Given the description of an element on the screen output the (x, y) to click on. 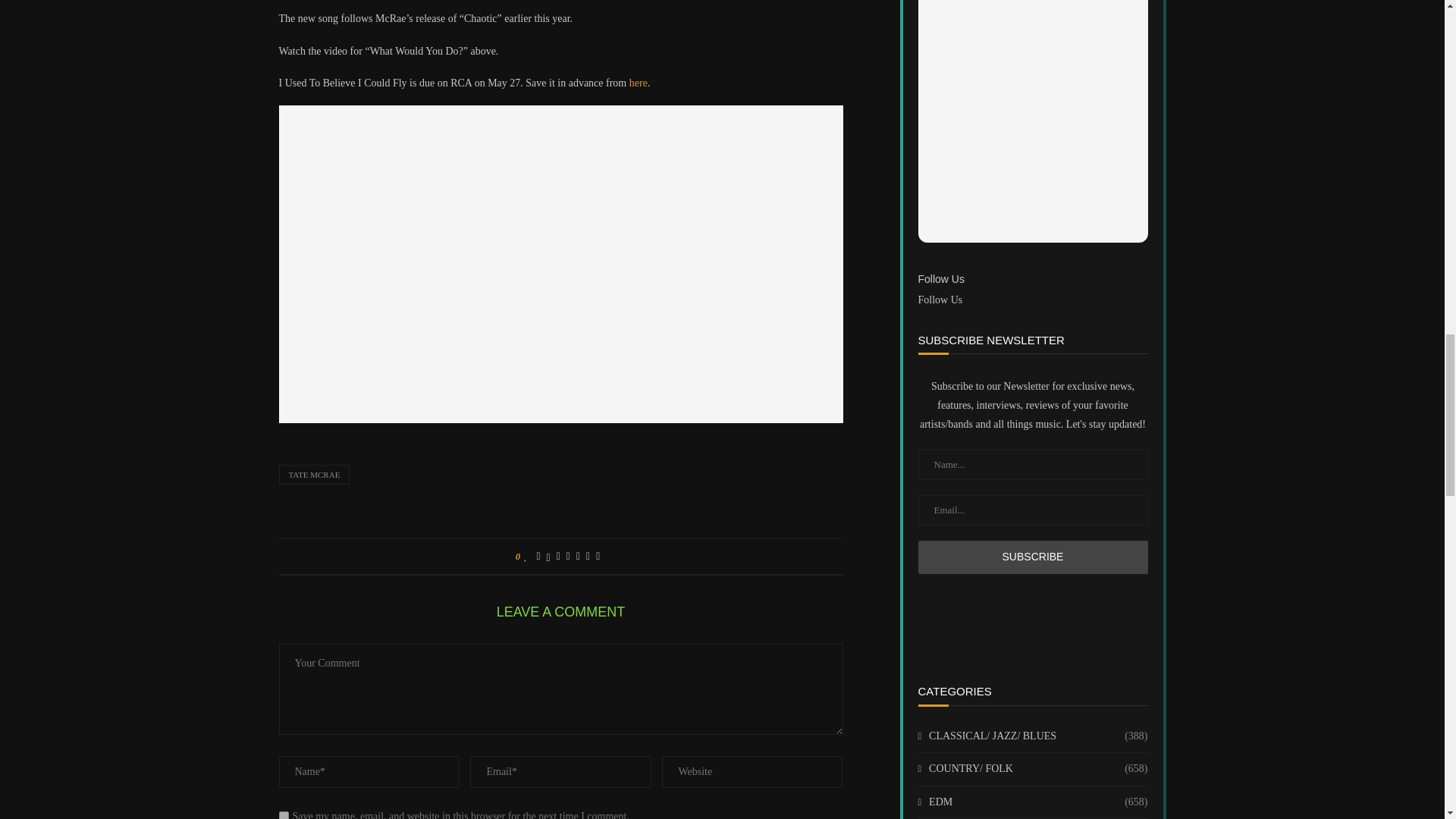
TATE MCRAE (314, 474)
yes (283, 815)
Like (525, 556)
here (637, 82)
Subscribe (1032, 557)
